Given the description of an element on the screen output the (x, y) to click on. 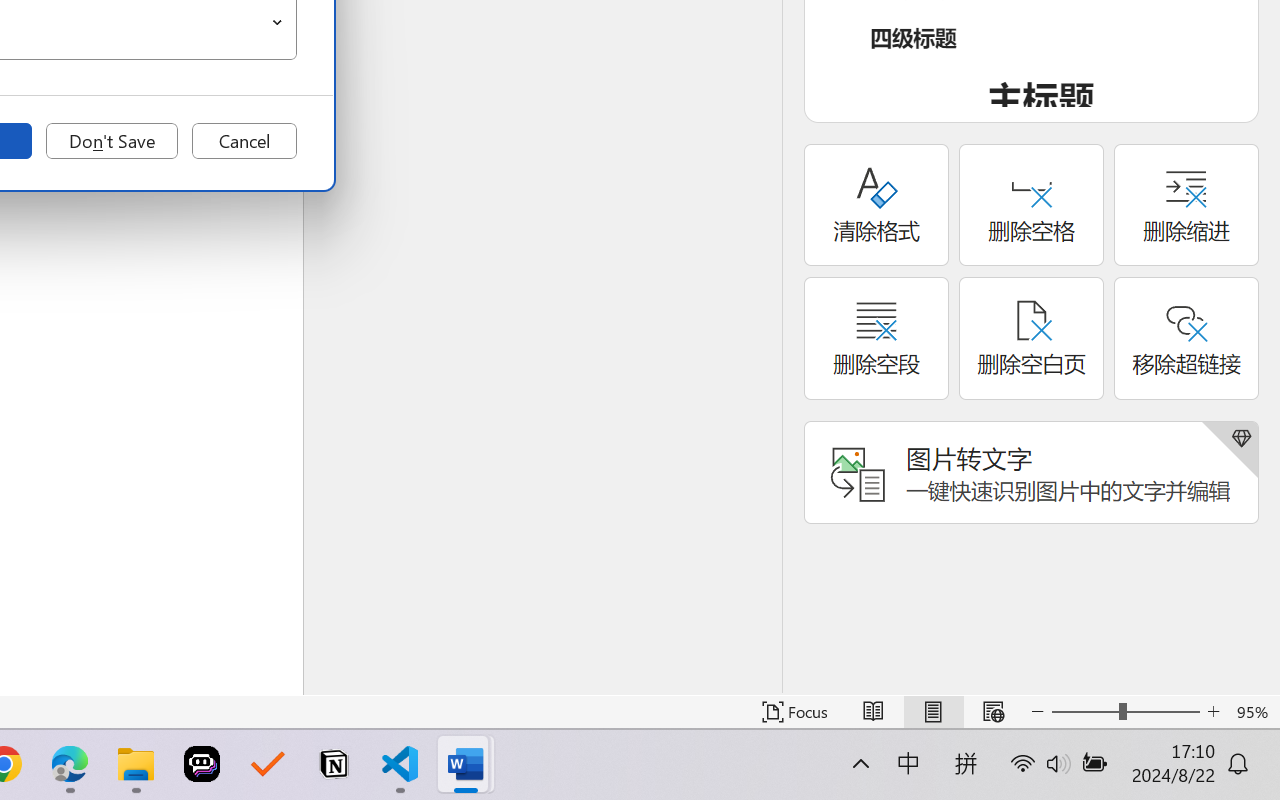
Don't Save (111, 141)
Cancel (244, 141)
